Given the description of an element on the screen output the (x, y) to click on. 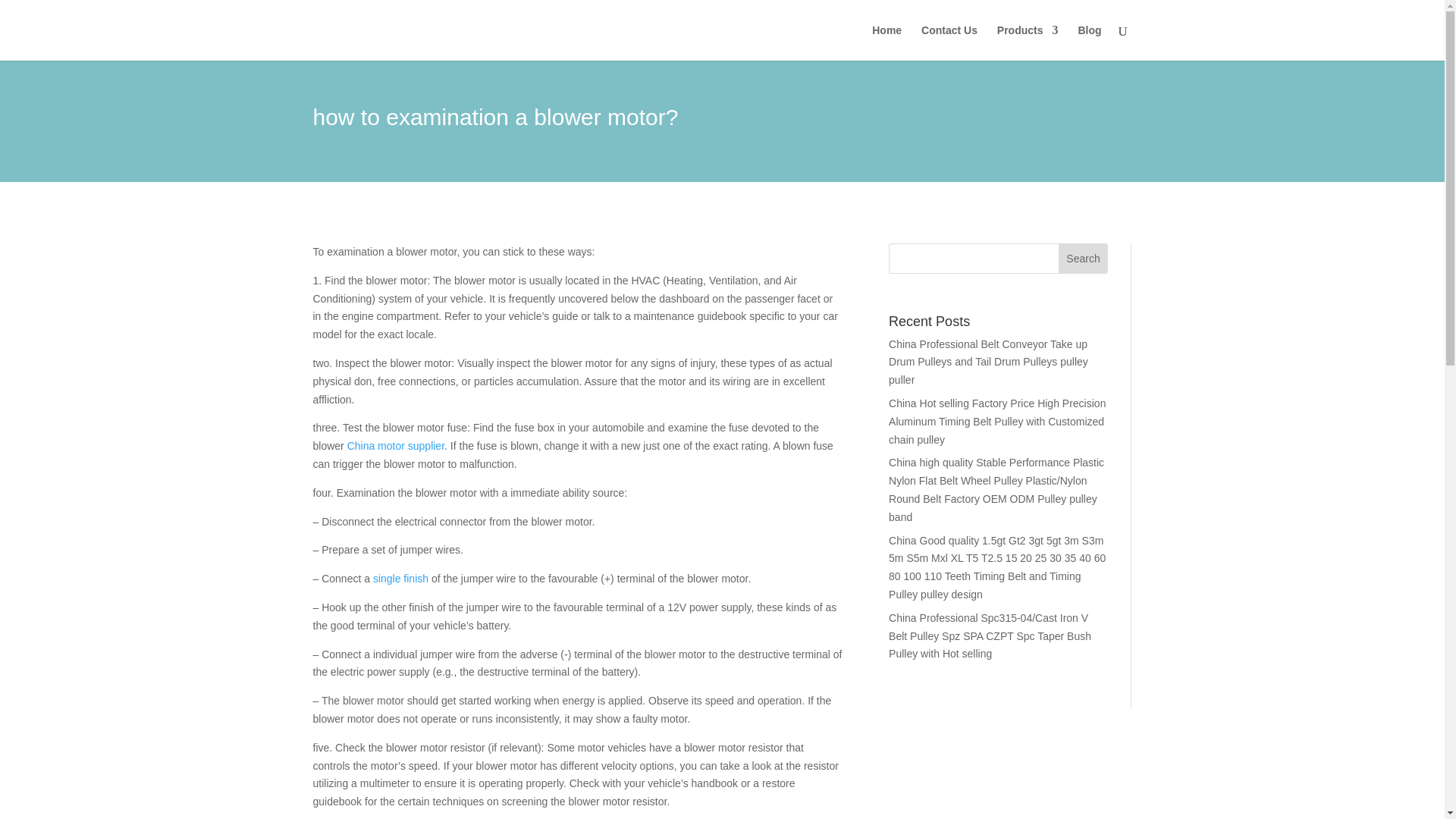
Contact Us (948, 42)
single finish (400, 578)
China motor supplier (395, 445)
Products (1027, 42)
Search (1083, 258)
Search (1083, 258)
